Given the description of an element on the screen output the (x, y) to click on. 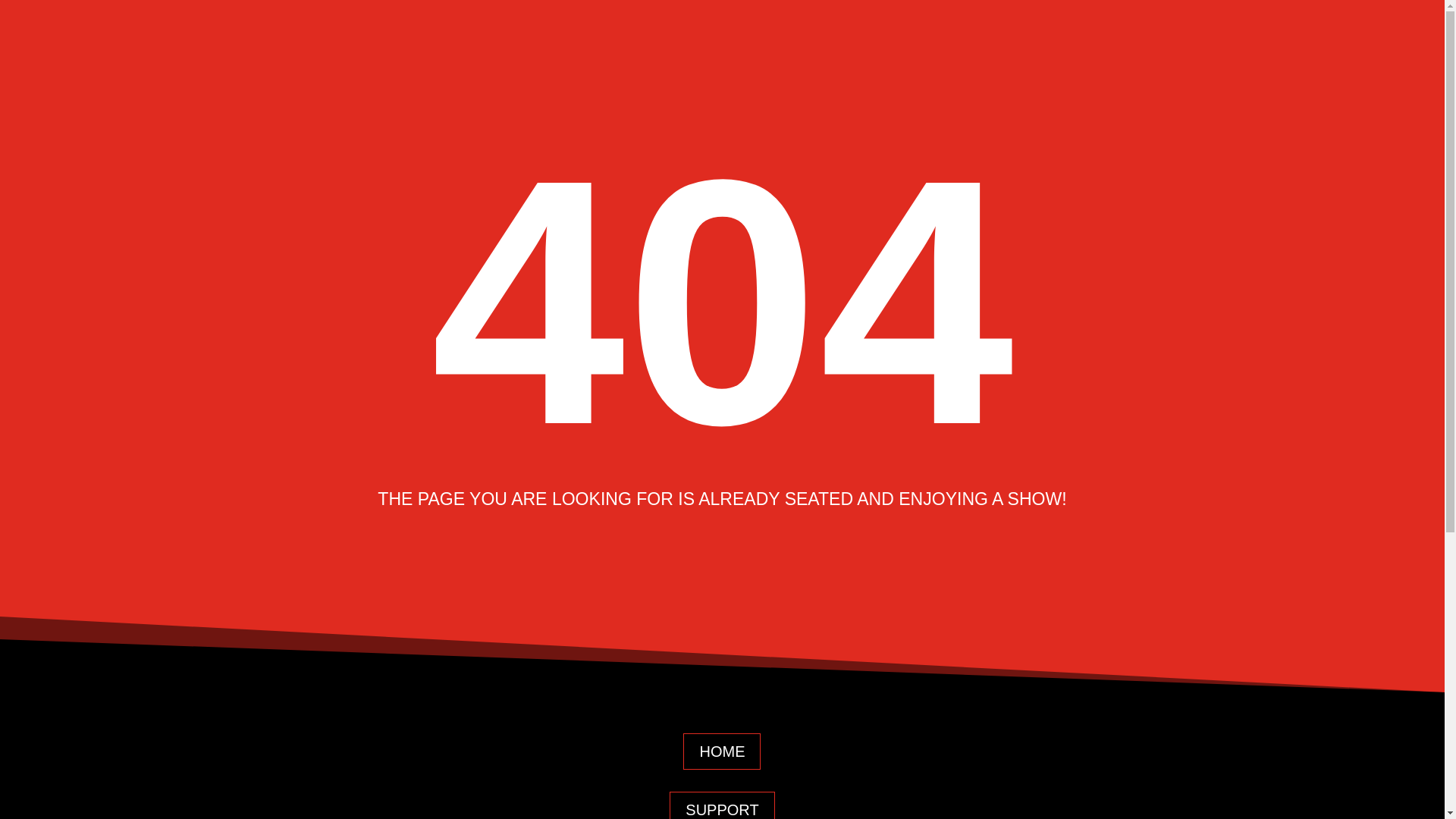
HOME (721, 751)
SUPPORT (721, 805)
